Given the description of an element on the screen output the (x, y) to click on. 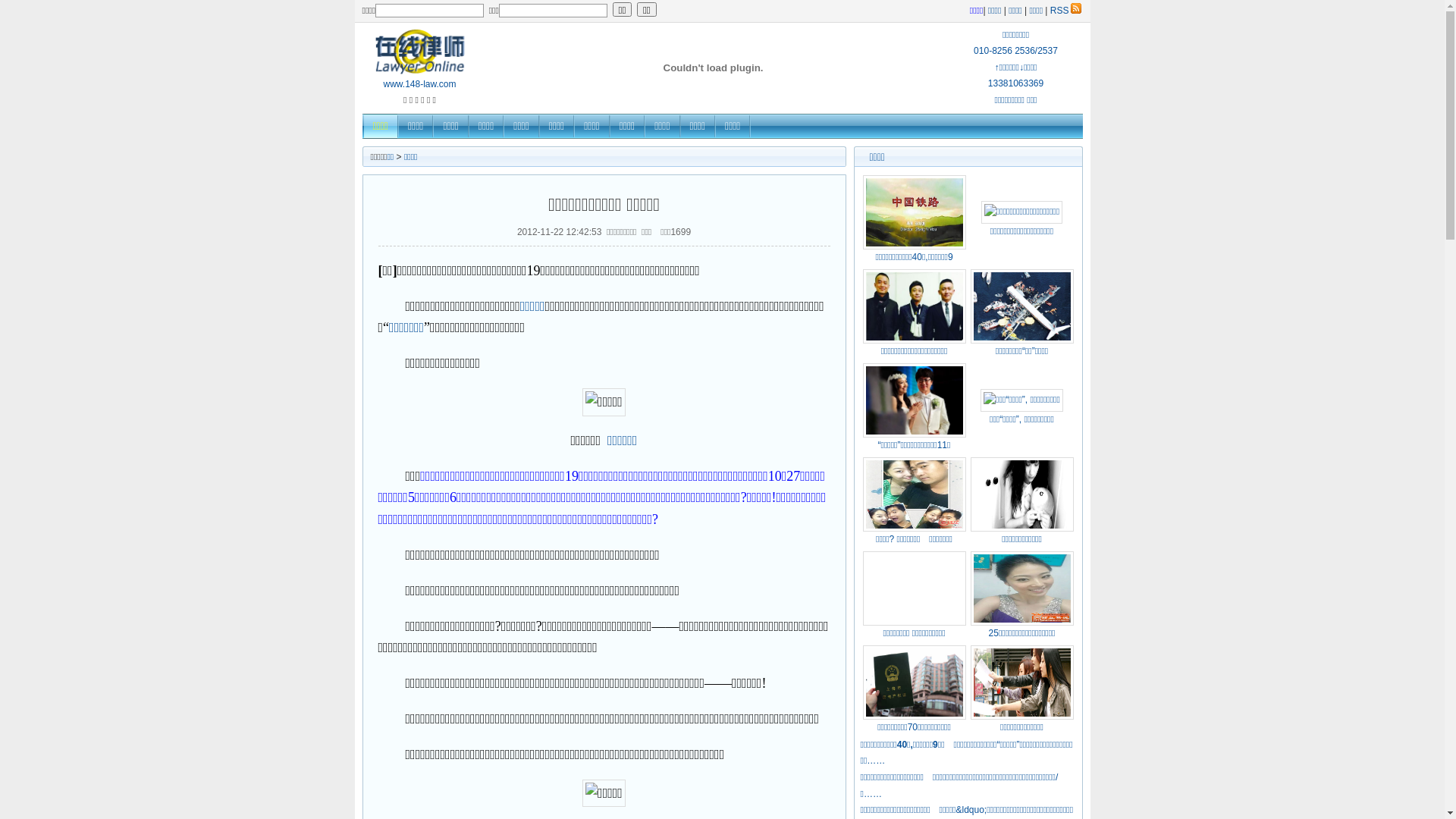
www.148-law.com Element type: text (419, 78)
RSS Element type: text (1066, 9)
